Given the description of an element on the screen output the (x, y) to click on. 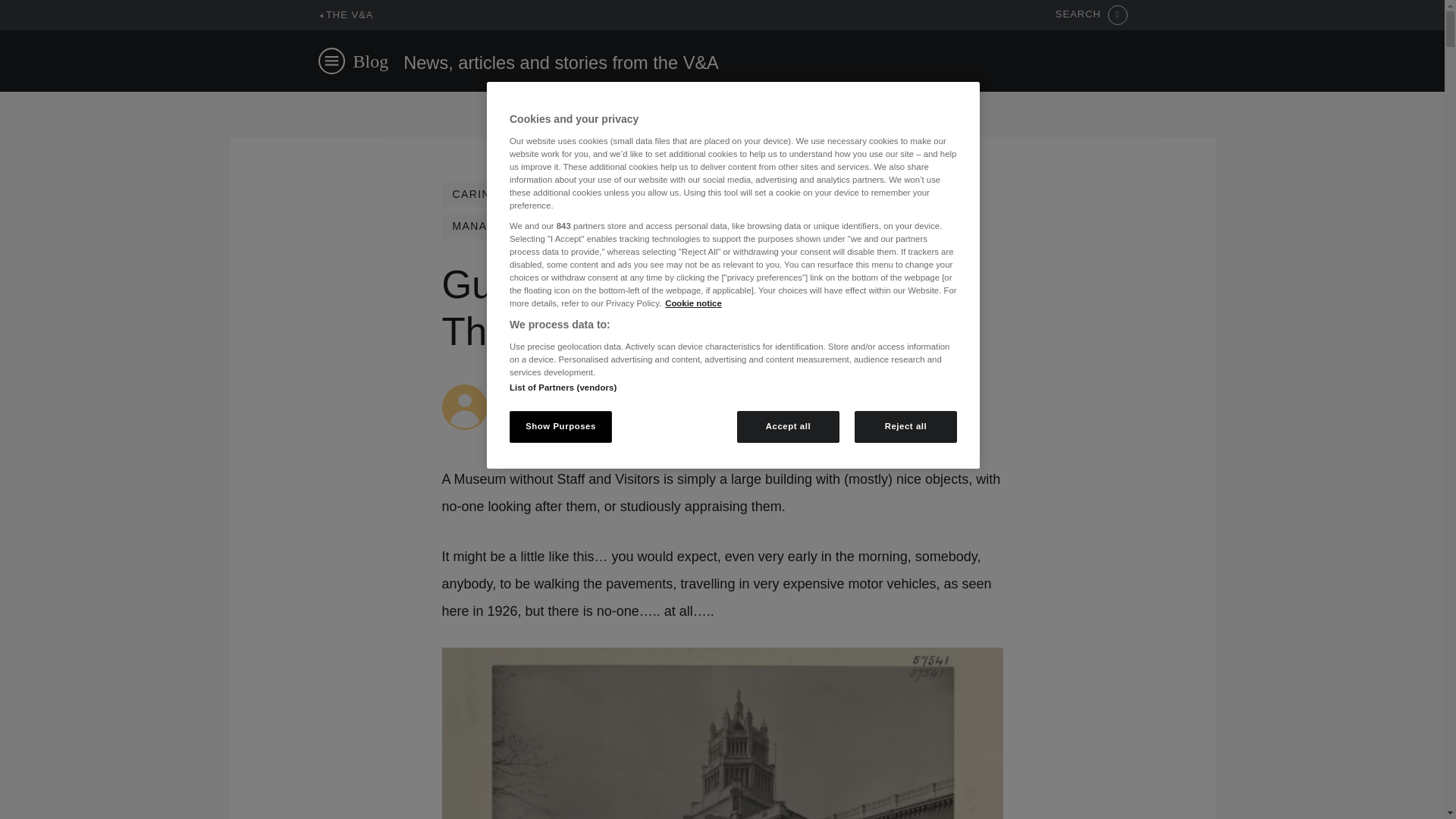
CARING FOR OUR COLLECTIONS (551, 194)
MANAGING OUR COLLECTIONS (545, 226)
Steve Woodhouse (546, 391)
SEARCH (1090, 15)
Blog (370, 60)
Posts by Steve Woodhouse (546, 391)
CONSERVATION (730, 194)
